Given the description of an element on the screen output the (x, y) to click on. 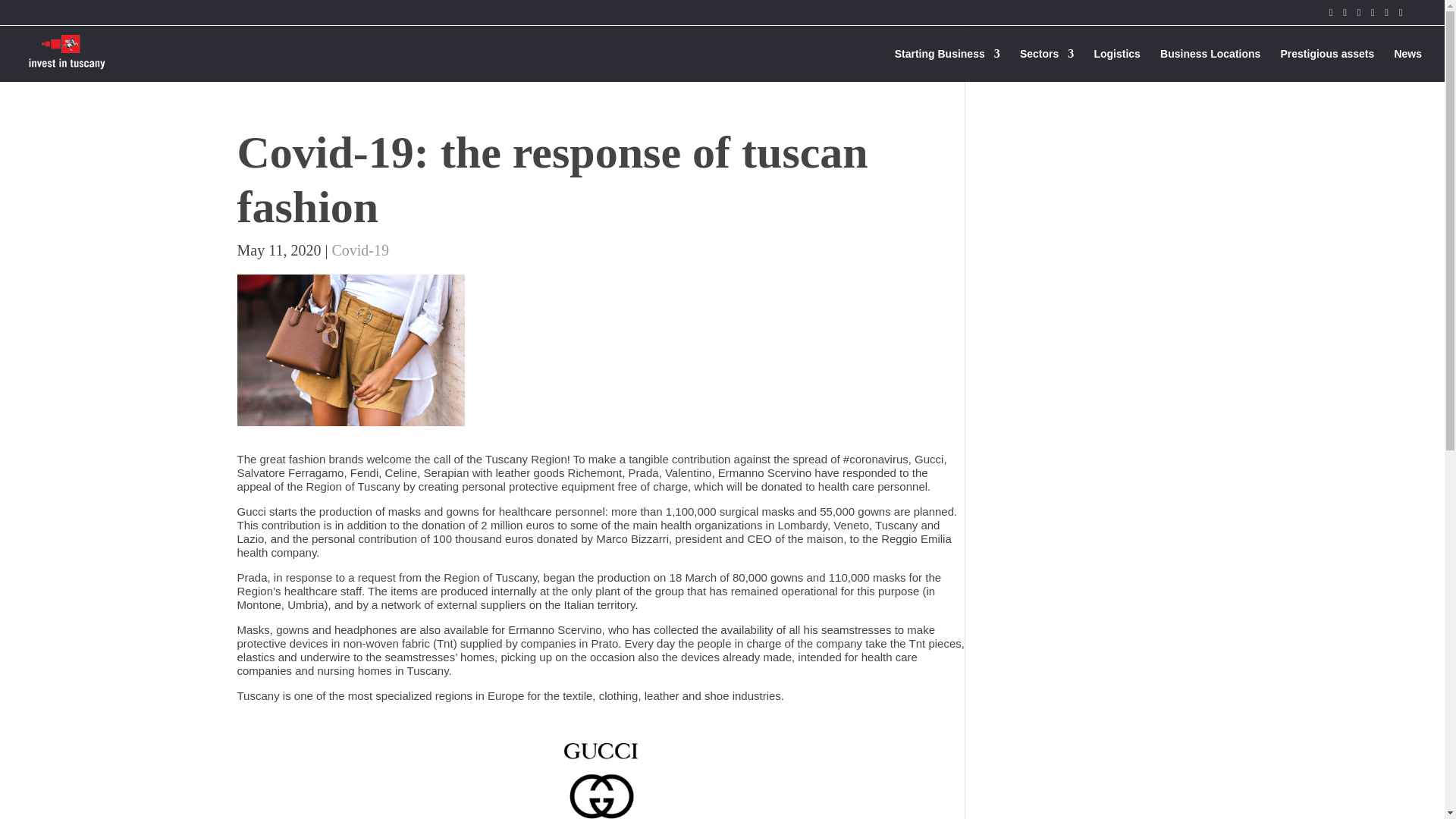
Business Locations (1210, 64)
Logistics (1116, 64)
Starting Business (947, 64)
Sectors (1047, 64)
Prestigious assets (1327, 64)
News (1407, 64)
